Given the description of an element on the screen output the (x, y) to click on. 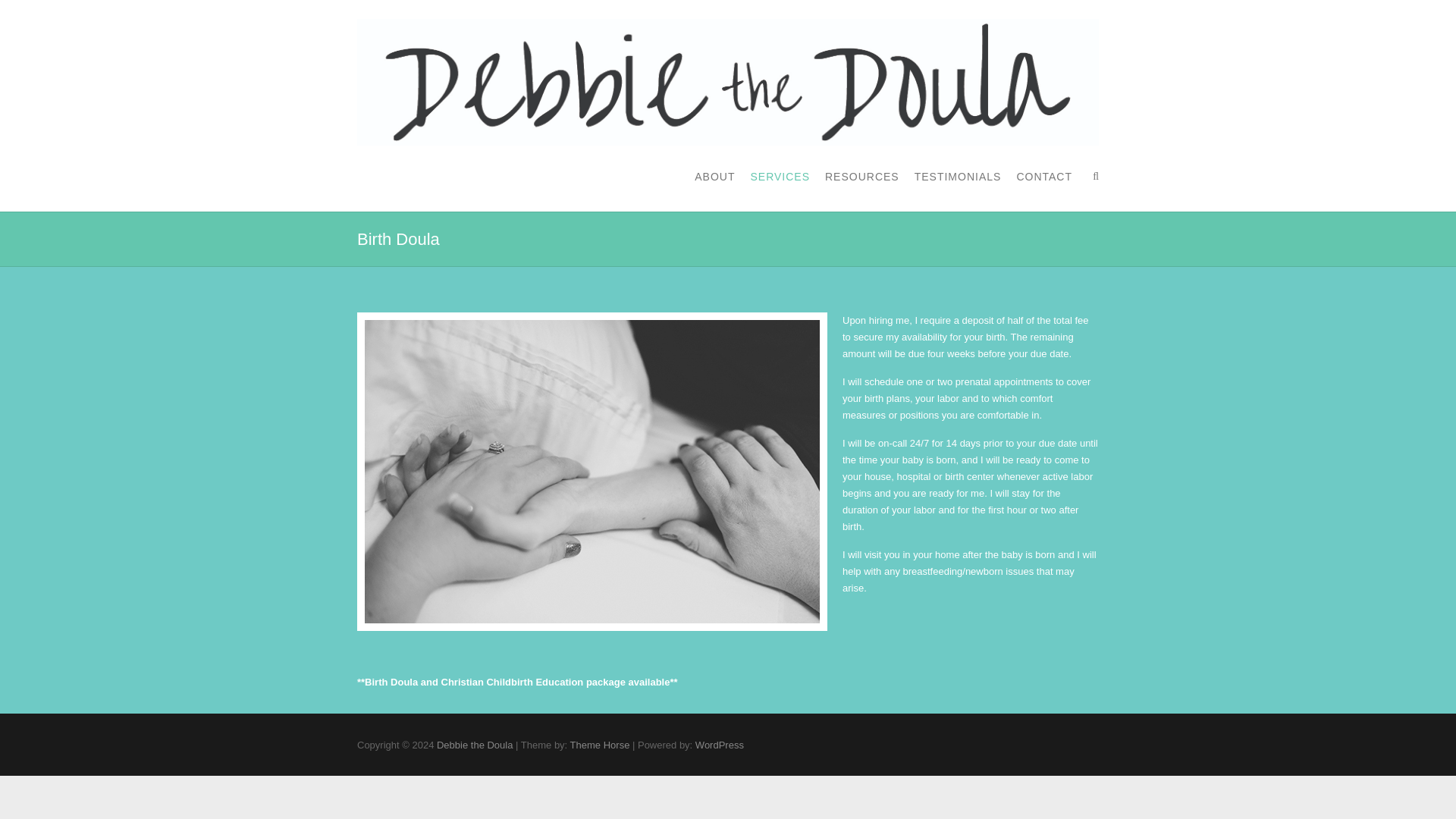
Theme Horse (600, 745)
WordPress (719, 745)
TESTIMONIALS (957, 176)
SERVICES (779, 176)
Theme Horse (600, 745)
CONTACT (1043, 176)
Debbie the Doula (474, 745)
WordPress (719, 745)
RESOURCES (862, 176)
Debbie the Doula (474, 745)
Debbie the Doula (727, 81)
